Given the description of an element on the screen output the (x, y) to click on. 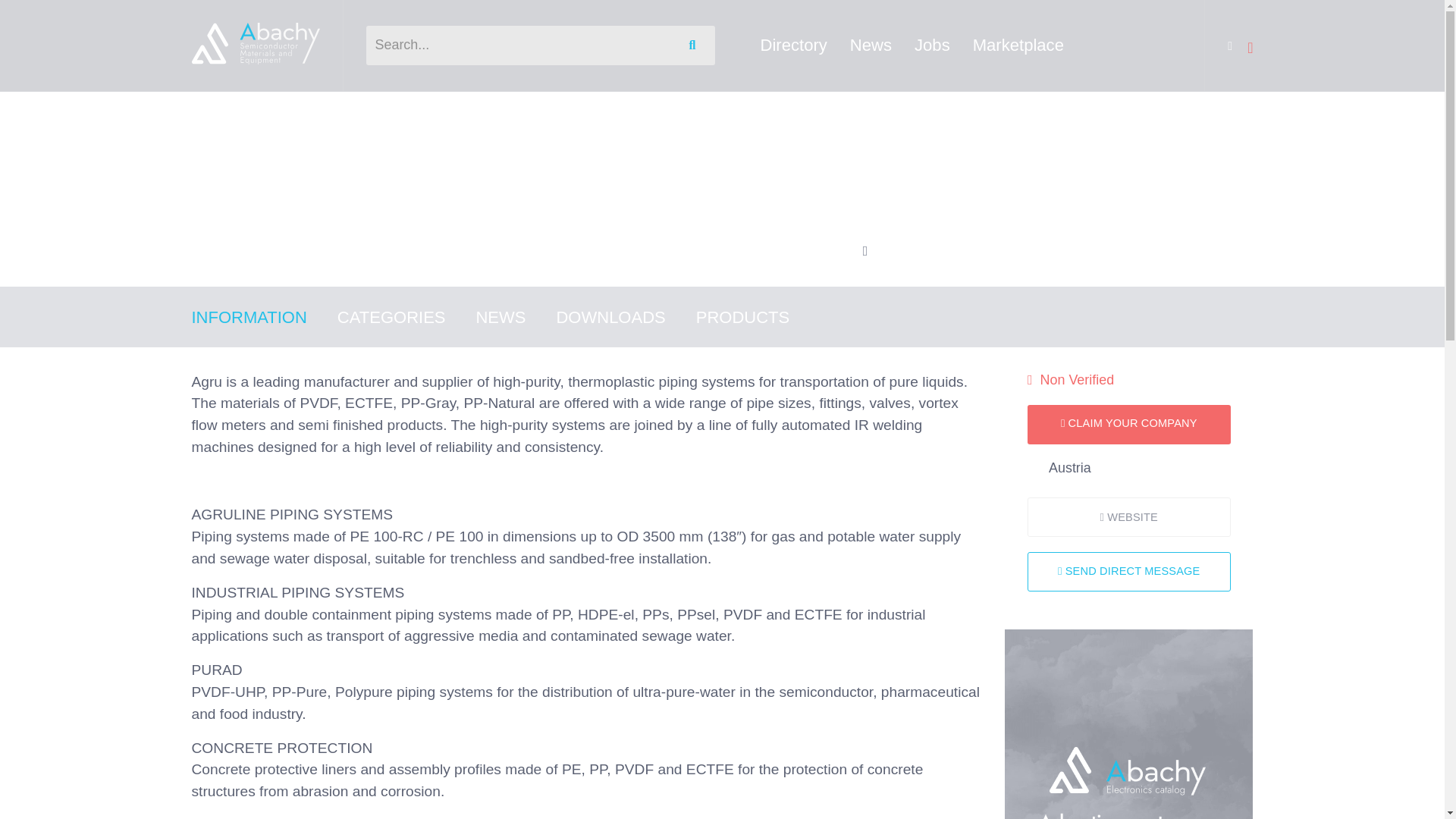
INFORMATION (263, 317)
News (870, 44)
SEND DIRECT MESSAGE (1128, 571)
CLAIM YOUR COMPANY (1128, 424)
NEWS (516, 317)
Search (694, 45)
Semiconductor Equipment (368, 111)
Directory (260, 111)
Home (207, 111)
Other Equipment (497, 111)
